Given the description of an element on the screen output the (x, y) to click on. 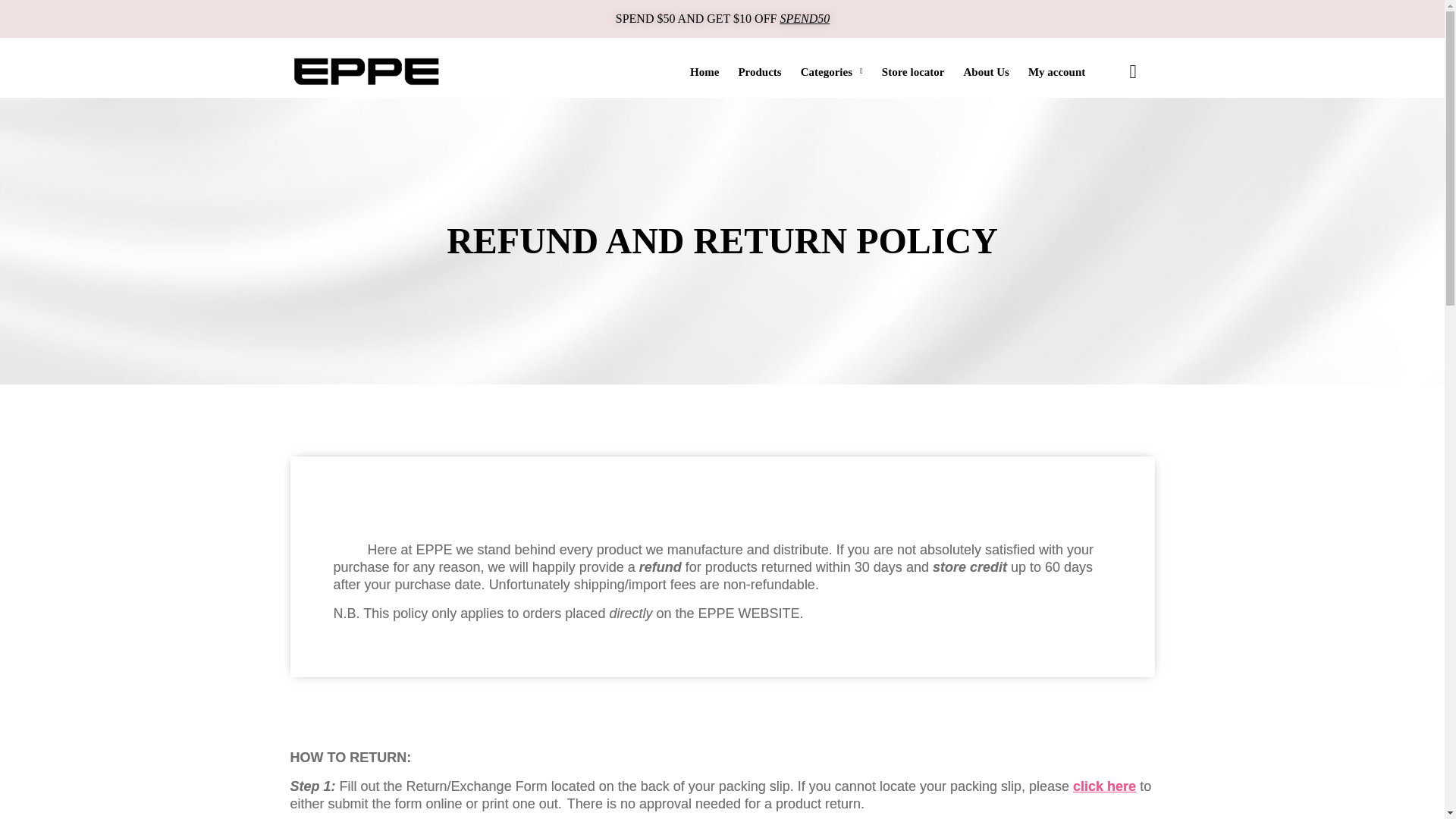
My account (1055, 71)
Products (759, 71)
Store locator (913, 71)
About Us (985, 71)
Categories (831, 71)
